Given the description of an element on the screen output the (x, y) to click on. 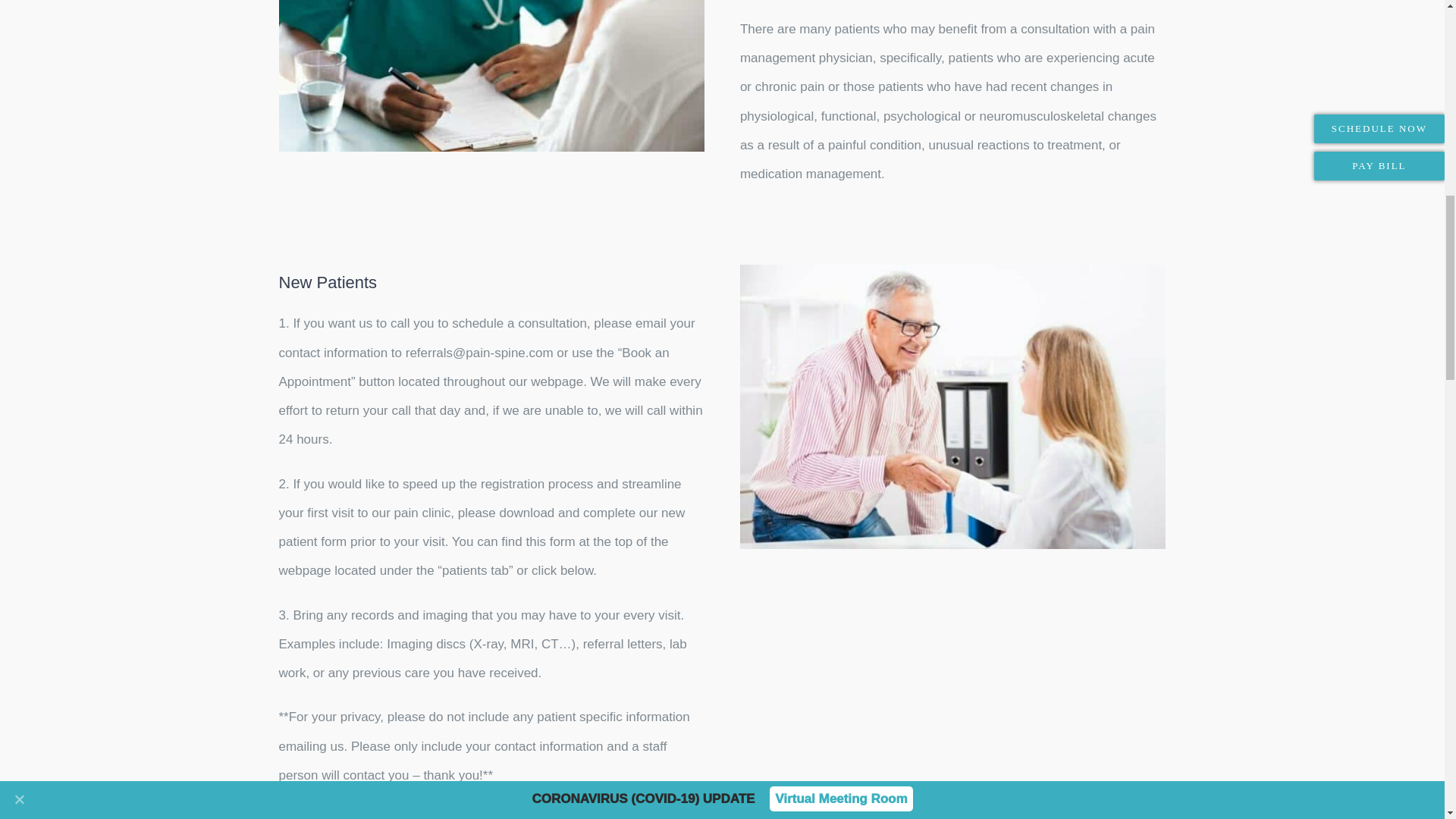
Senior Patient Shaking Hand With Doctor (952, 405)
Patient Speaking With Doctor (491, 75)
